Given the description of an element on the screen output the (x, y) to click on. 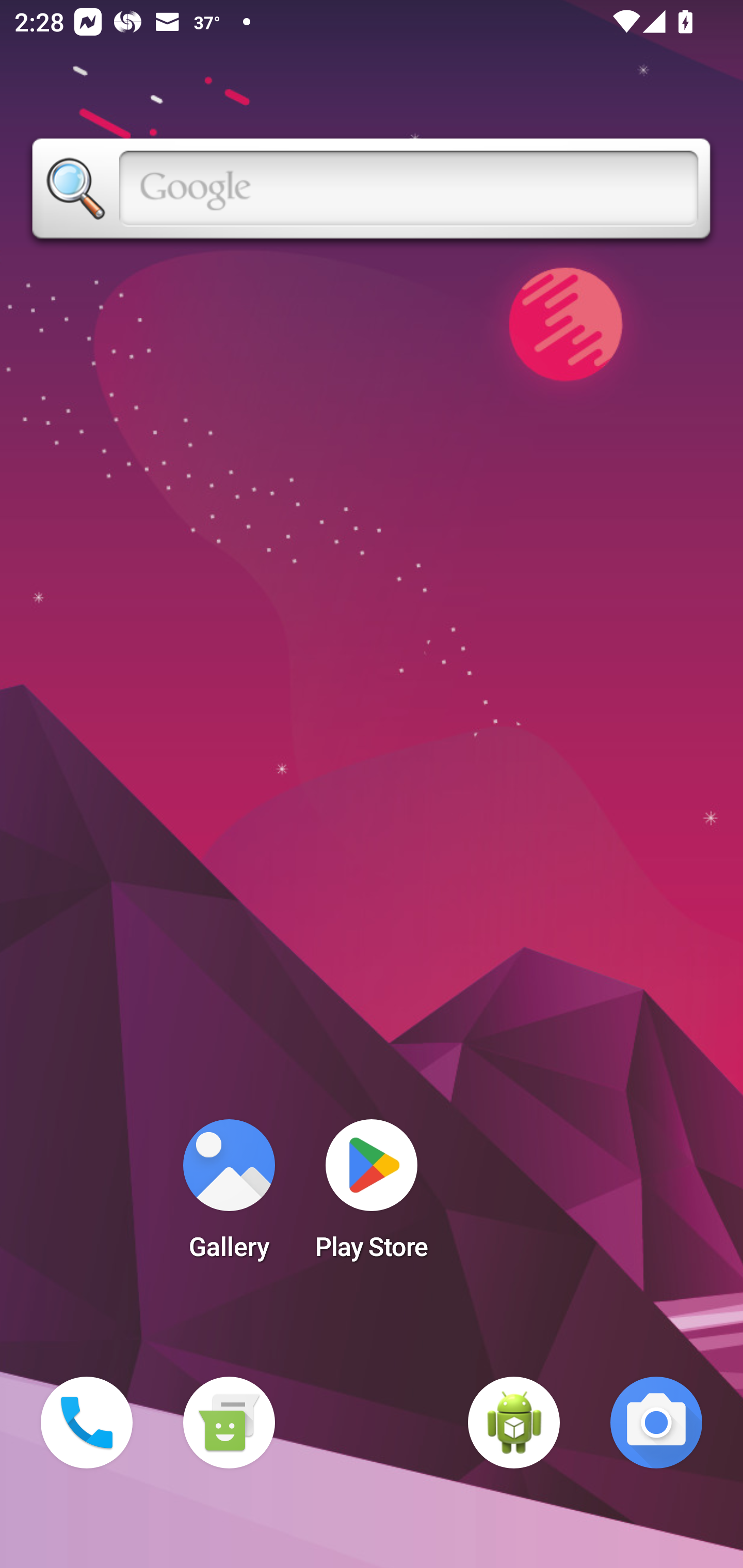
Gallery (228, 1195)
Play Store (371, 1195)
Phone (86, 1422)
Messaging (228, 1422)
WebView Browser Tester (513, 1422)
Camera (656, 1422)
